Given the description of an element on the screen output the (x, y) to click on. 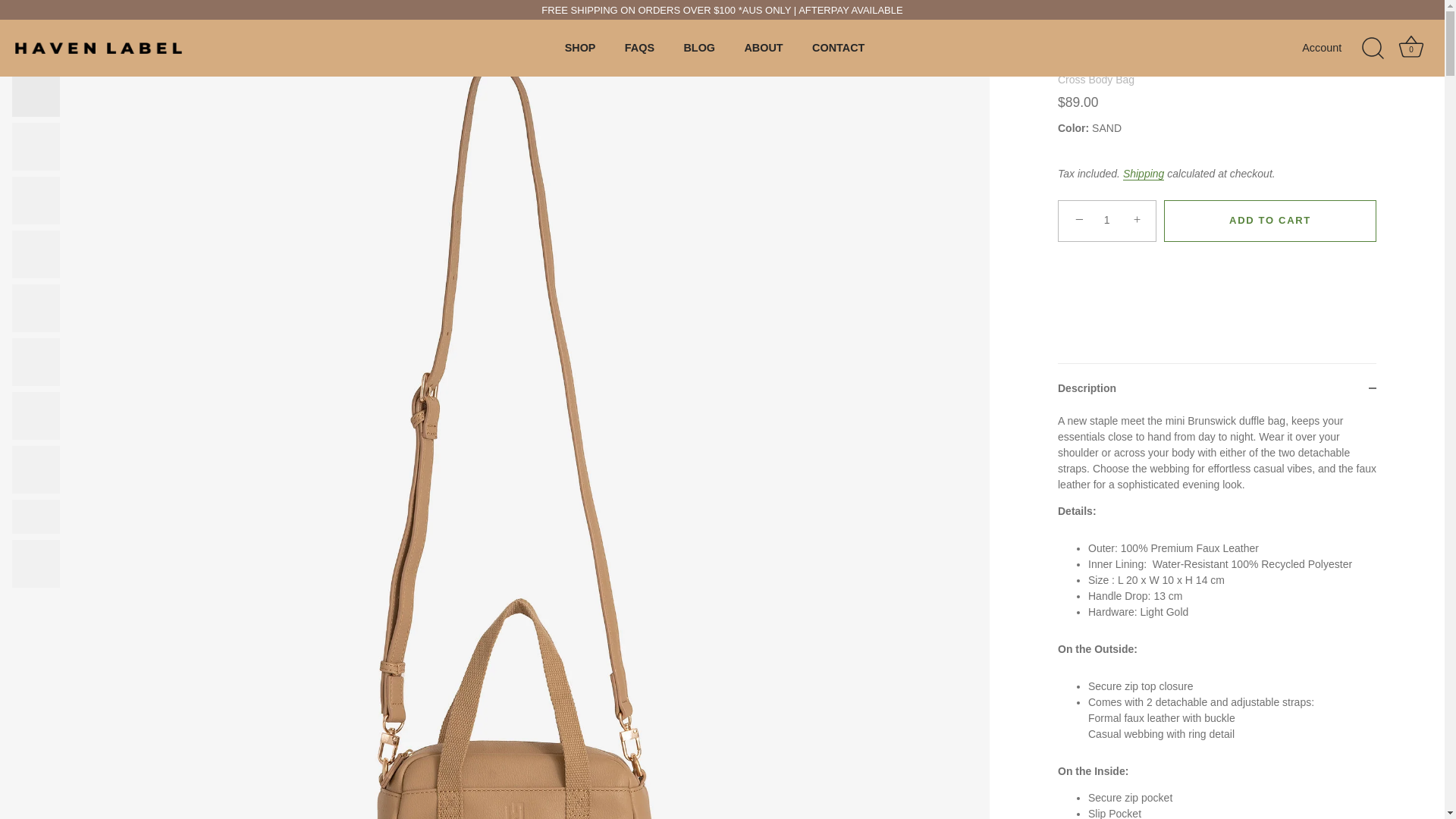
CONTACT (838, 48)
ABOUT (763, 48)
Account (1411, 48)
Basket (1334, 48)
BLOG (1410, 46)
SHOP (698, 48)
FAQS (579, 48)
